Given the description of an element on the screen output the (x, y) to click on. 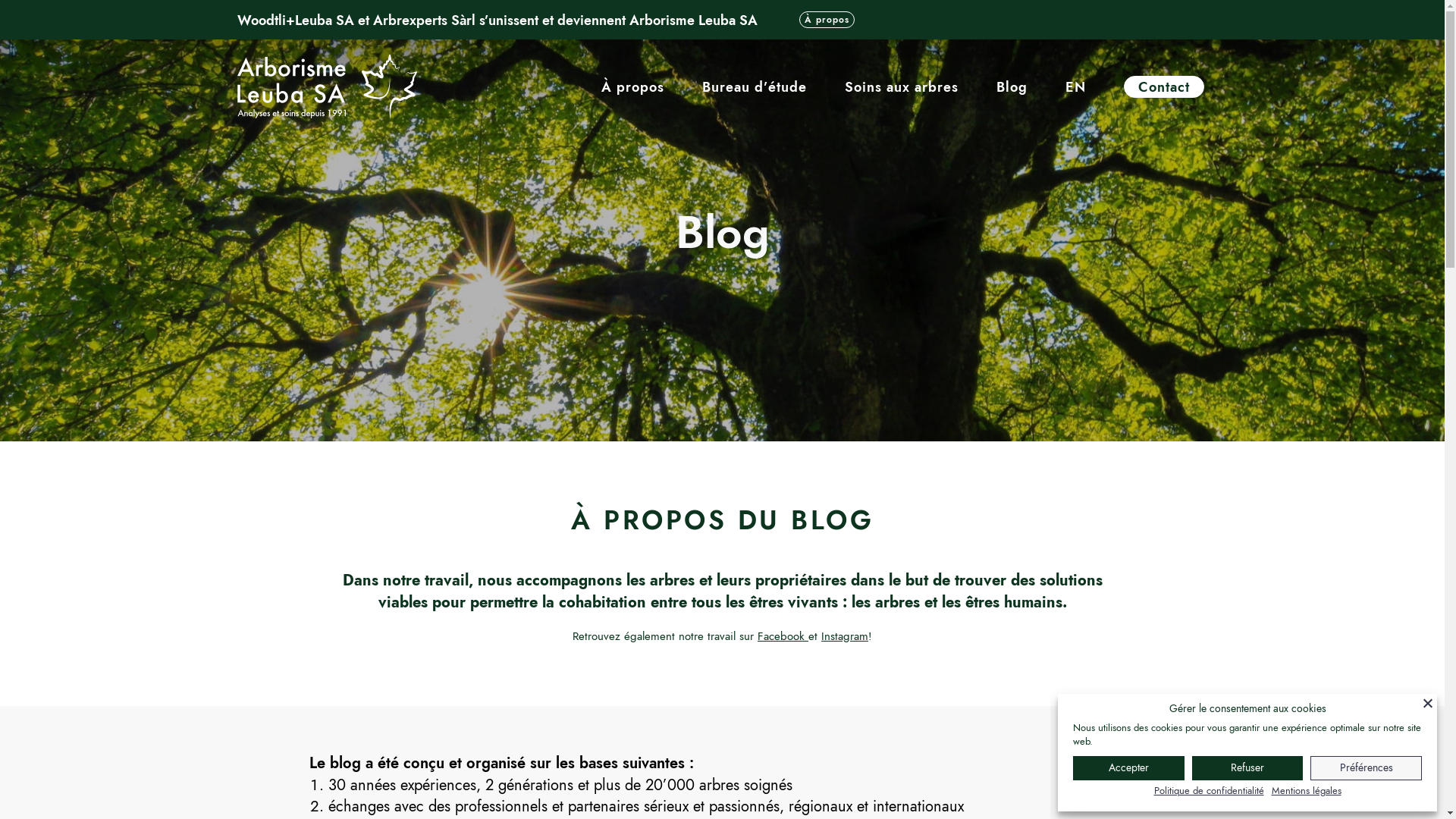
Facebook Element type: text (782, 635)
menu-normal Element type: hover (326, 86)
Contact Element type: text (1163, 86)
Soins aux arbres Element type: text (901, 86)
EN Element type: text (1074, 86)
Instagram Element type: text (844, 635)
Blog Element type: text (1011, 86)
